Given the description of an element on the screen output the (x, y) to click on. 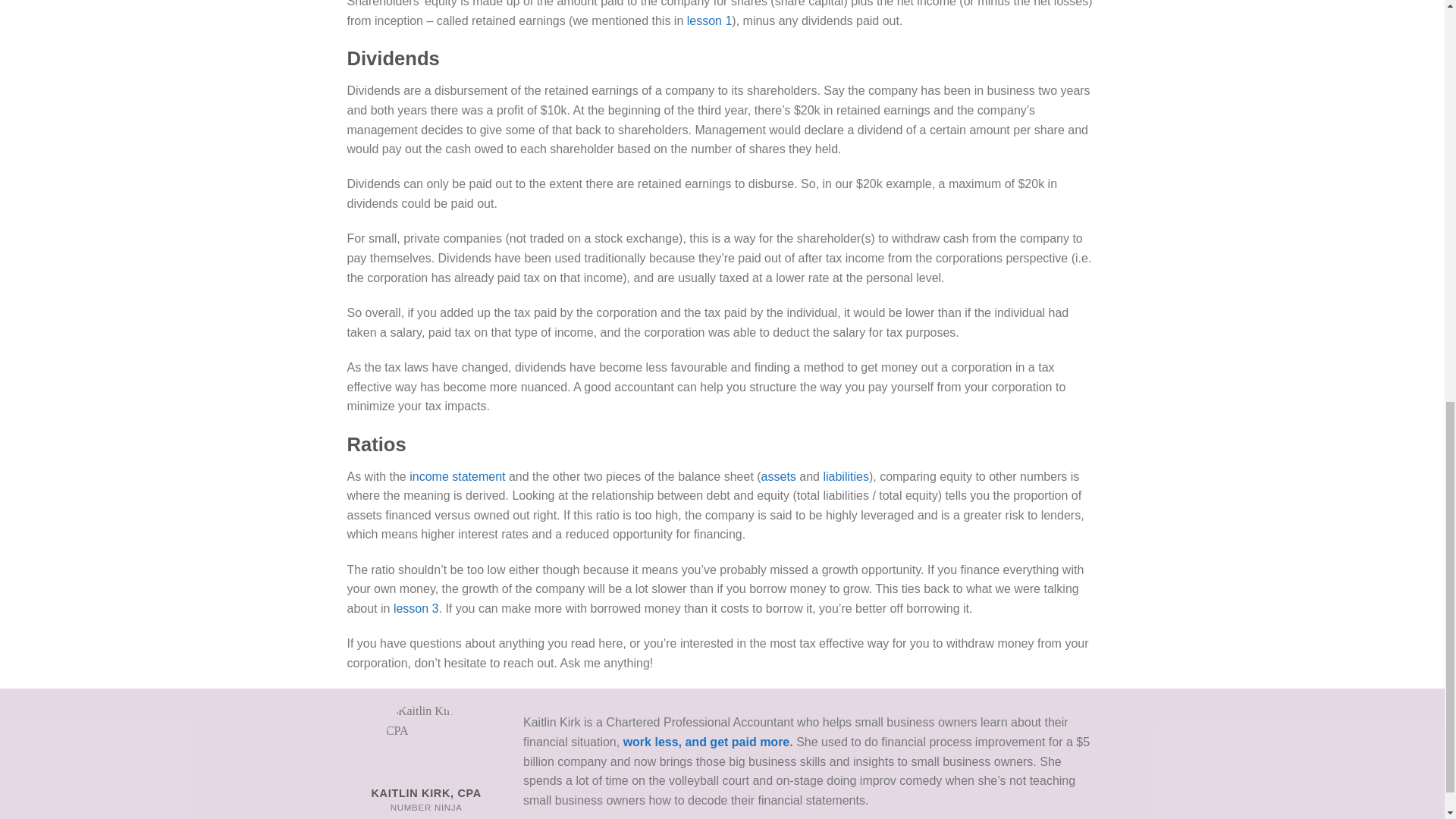
lesson 3 (416, 608)
work less, and get paid more (706, 741)
liabilities (844, 476)
lesson 1 (709, 20)
income statement (457, 476)
assets (778, 476)
